Given the description of an element on the screen output the (x, y) to click on. 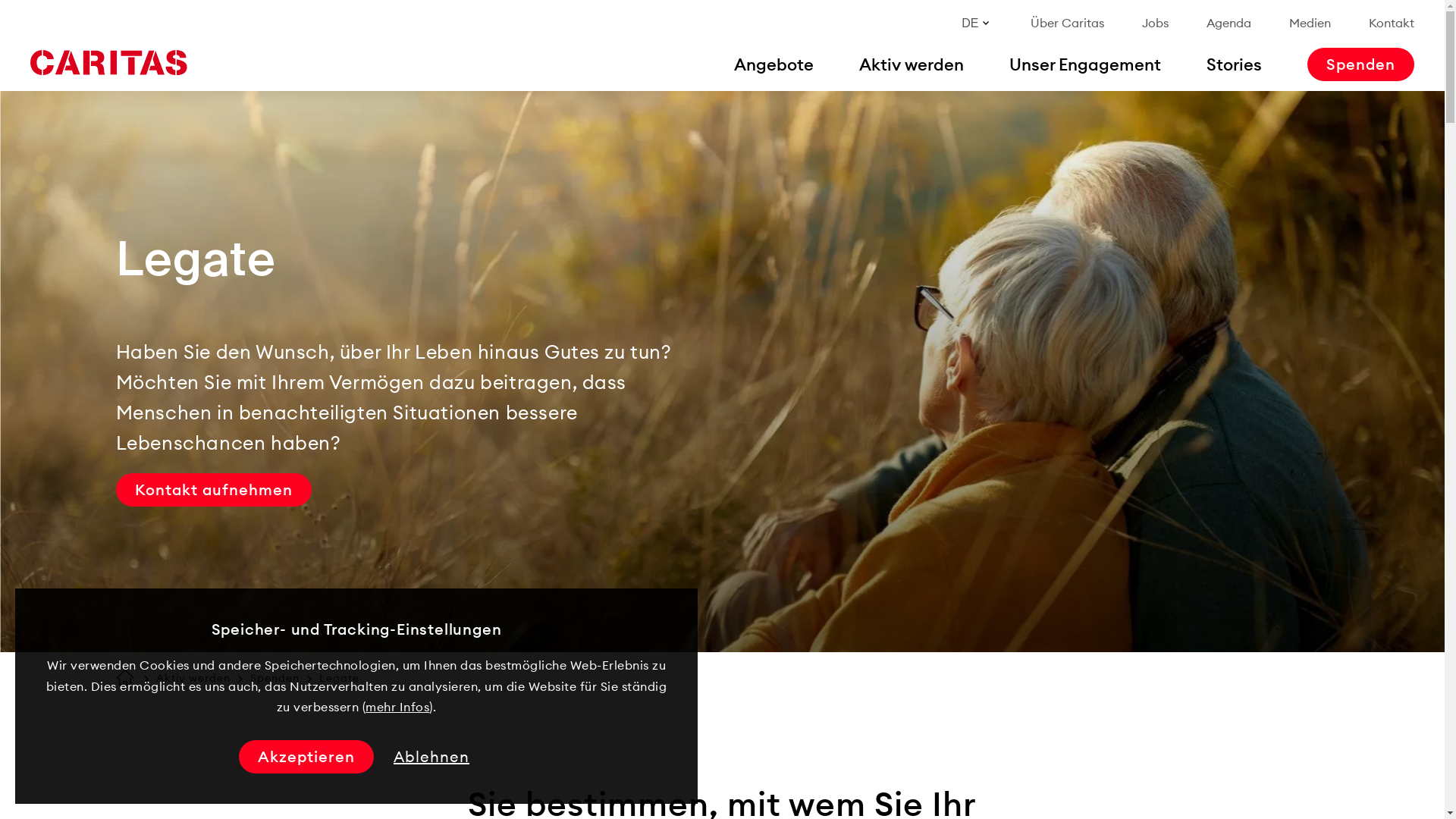
Medien Element type: text (1309, 22)
Spenden Element type: text (274, 678)
Unser Engagement Element type: text (1085, 64)
Stories Element type: text (1233, 64)
Startseite Element type: text (124, 677)
Ablehnen Element type: text (431, 756)
Angebote Element type: text (773, 64)
Kontakt Element type: text (1391, 22)
mehr Infos Element type: text (397, 706)
Aktiv werden Element type: text (911, 64)
Open sub menu Element type: text (18, 18)
Agenda Element type: text (1228, 22)
Jobs Element type: text (1155, 22)
Aktiv werden Element type: text (193, 678)
Startseite Element type: text (108, 62)
Kontakt aufnehmen Element type: text (212, 489)
Spenden Element type: text (1360, 64)
Akzeptieren Element type: text (305, 756)
